Given the description of an element on the screen output the (x, y) to click on. 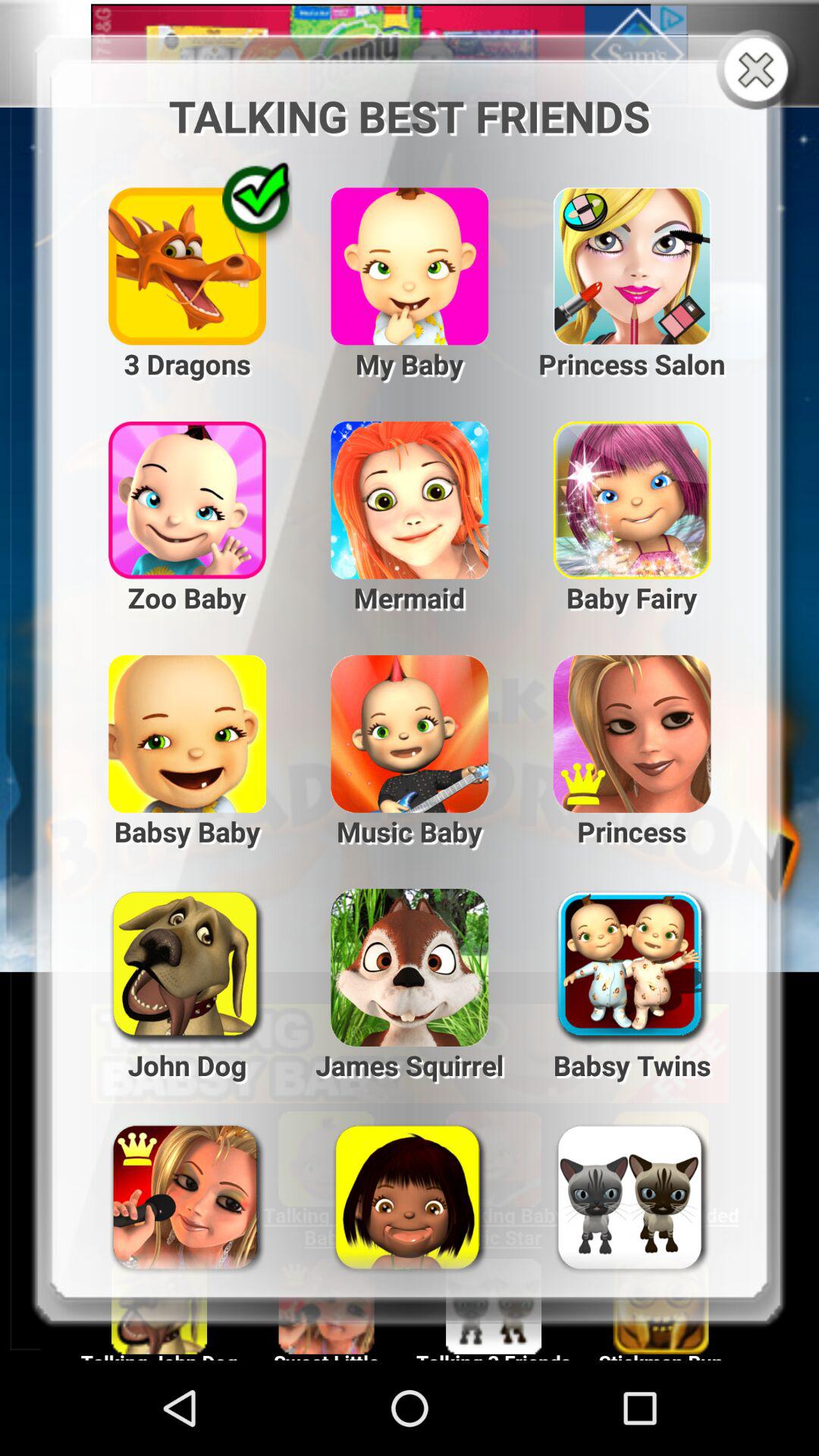
close (759, 71)
